Given the description of an element on the screen output the (x, y) to click on. 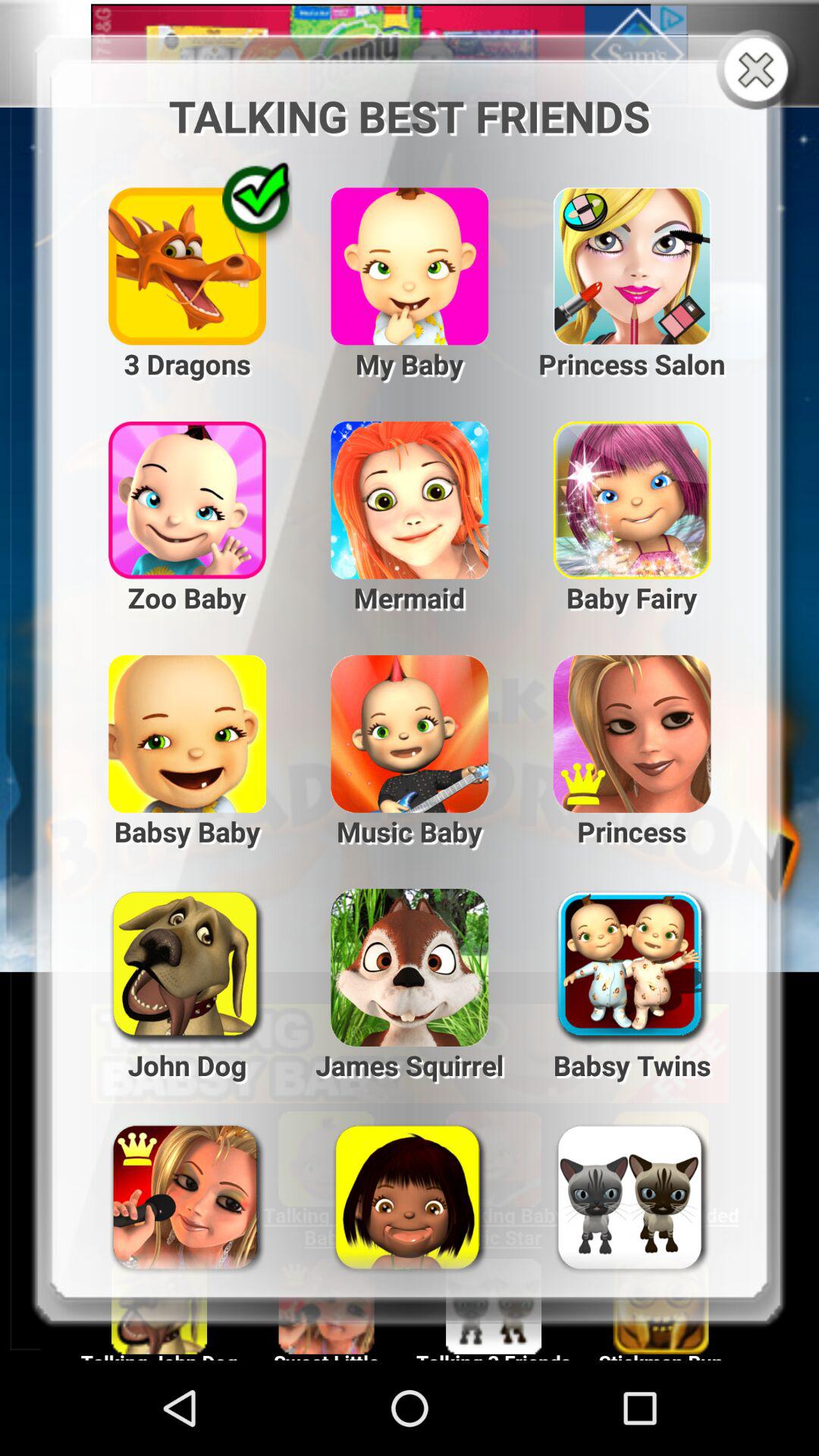
close (759, 71)
